Given the description of an element on the screen output the (x, y) to click on. 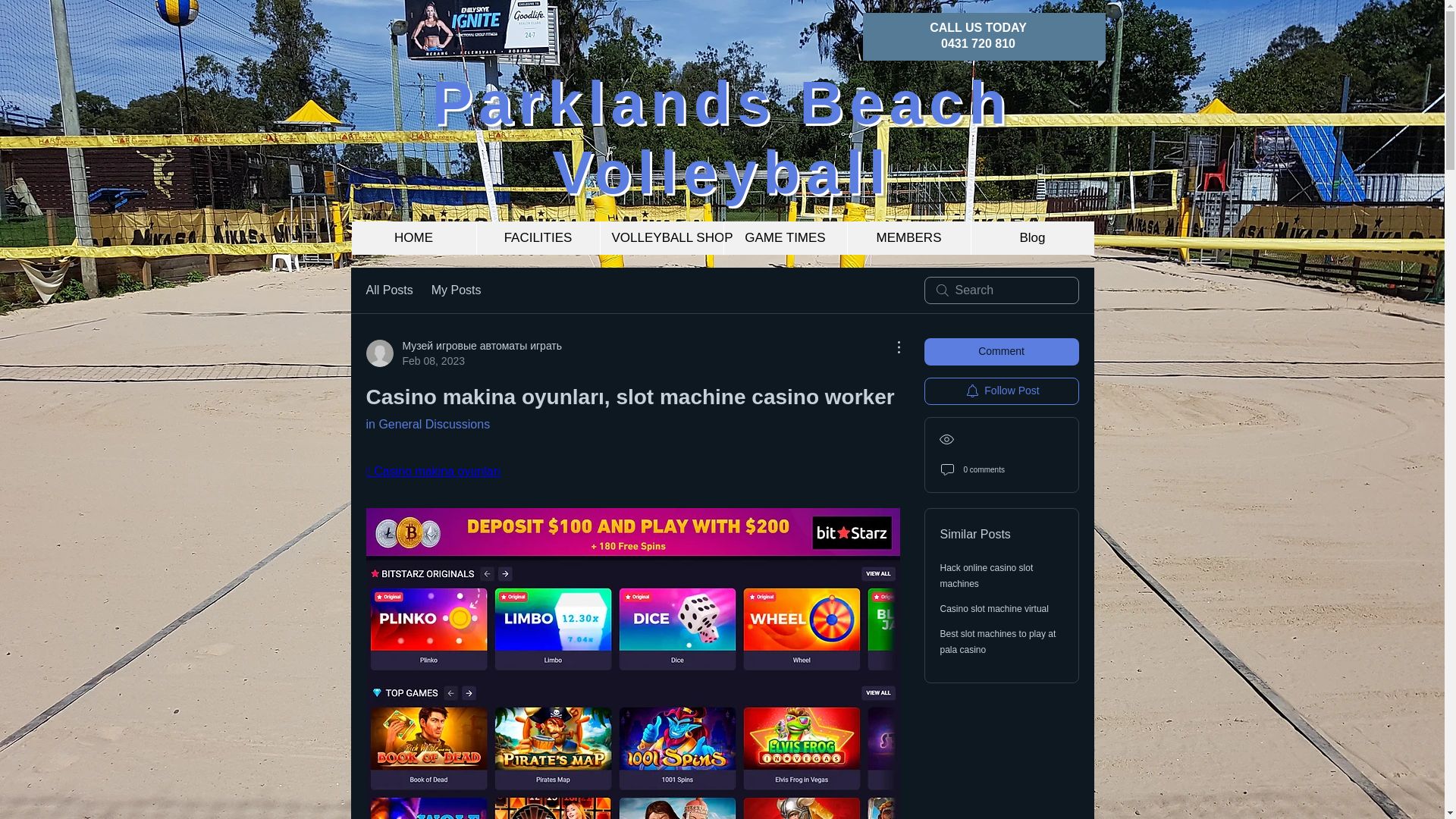
VOLLEYBALL SHOP (660, 237)
HOME (414, 237)
in General Discussions (427, 423)
Follow Post (1000, 390)
My Posts (455, 290)
Comment (1000, 351)
All Posts (388, 290)
MEMBERS (907, 237)
Blog (1032, 237)
Best slot machines to play at pala casino (998, 641)
Hack online casino slot machines (986, 575)
FACILITIES (537, 237)
Casino slot machine virtual (994, 608)
GAME TIMES (785, 237)
